Given the description of an element on the screen output the (x, y) to click on. 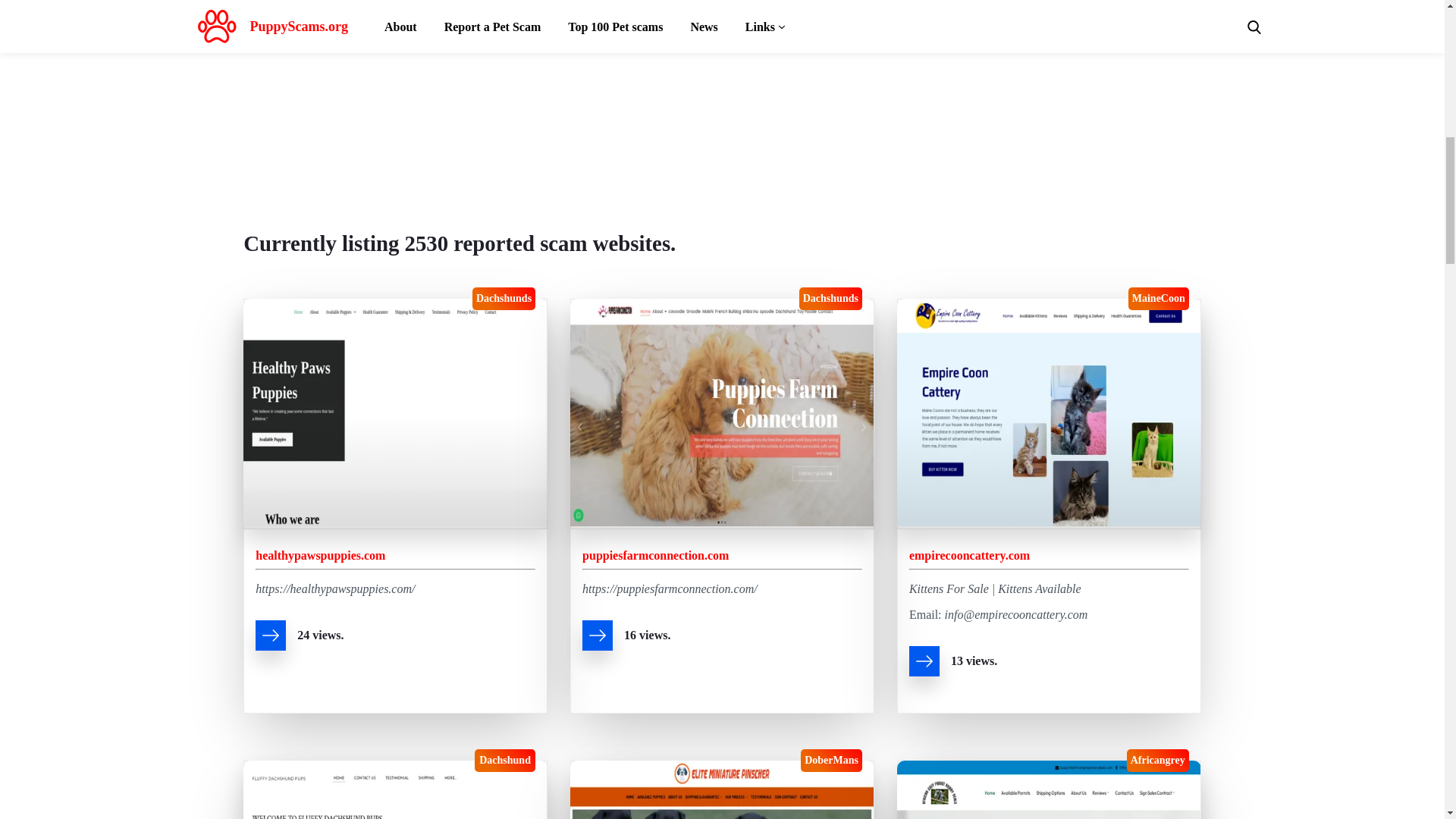
16 views. (721, 638)
24 views. (395, 638)
empirecooncattery.com (968, 554)
healthypawspuppies.com (320, 554)
13 views. (1048, 663)
puppiesfarmconnection.com (655, 554)
3rd party ad content (721, 80)
